Given the description of an element on the screen output the (x, y) to click on. 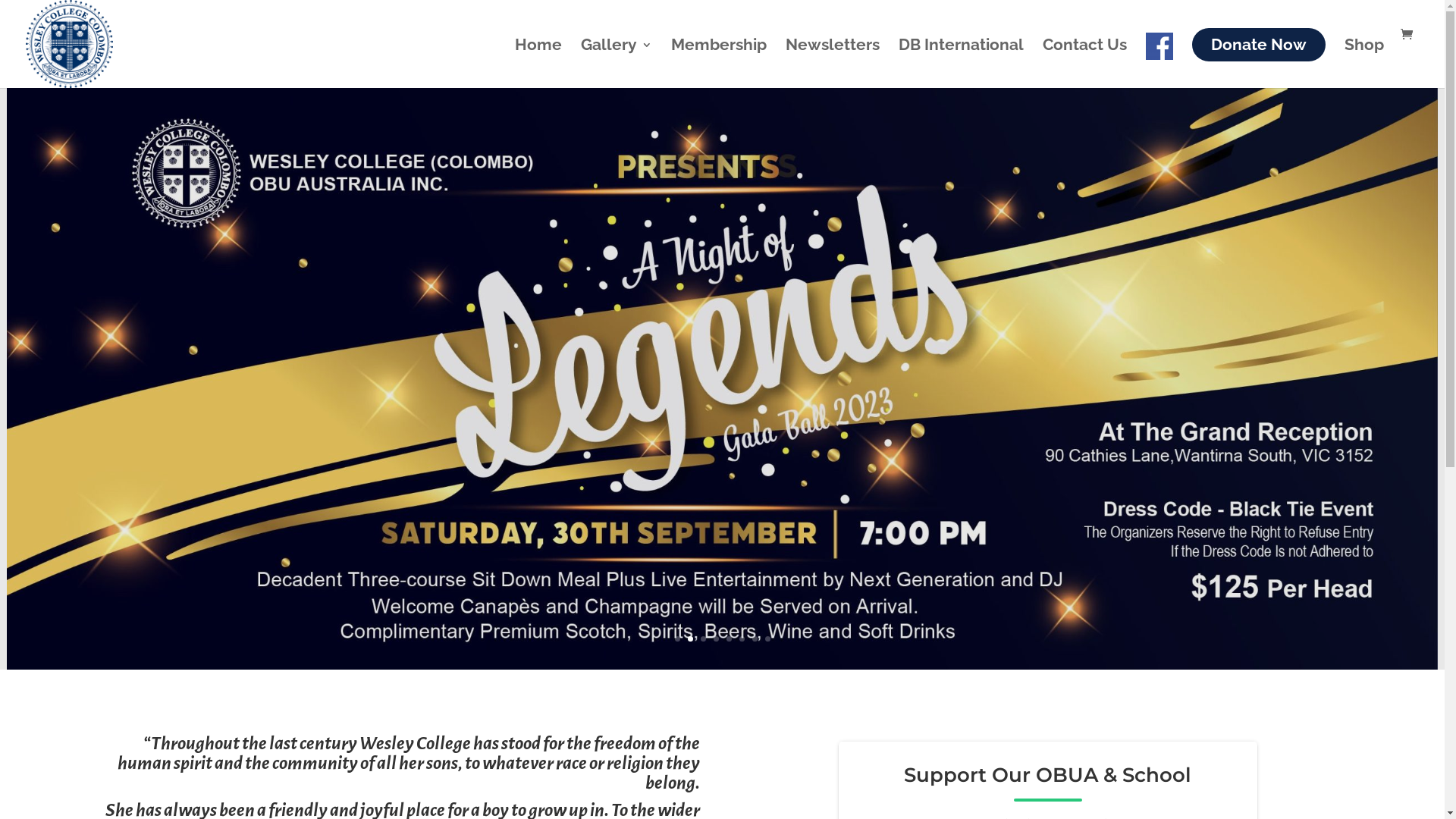
Donate Now Element type: text (1258, 44)
8 Element type: text (766, 638)
5 Element type: text (728, 638)
Home Element type: text (537, 58)
4 Element type: text (715, 638)
7 Element type: text (754, 638)
DB International Element type: text (960, 58)
2 Element type: text (689, 638)
Contact Us Element type: text (1084, 58)
Membership Element type: text (718, 58)
6 Element type: text (740, 638)
Newsletters Element type: text (832, 58)
Gallery Element type: text (616, 58)
Shop Element type: text (1363, 58)
3 Element type: text (703, 638)
1 Element type: text (677, 638)
